Given the description of an element on the screen output the (x, y) to click on. 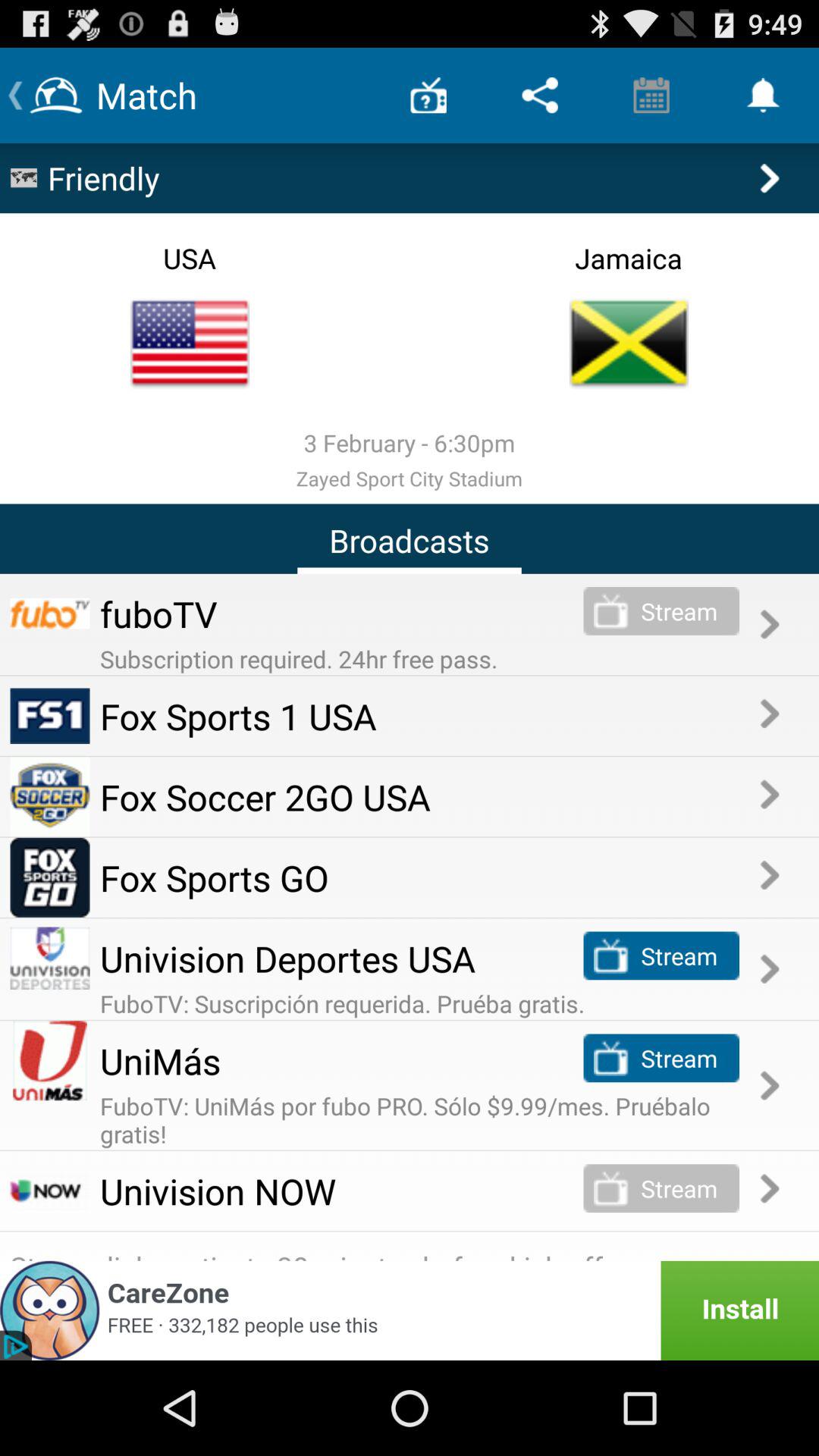
click on the stream icon at the bottom of the page (611, 1188)
click on the jamaica flag to the right side of the page (628, 343)
